Given the description of an element on the screen output the (x, y) to click on. 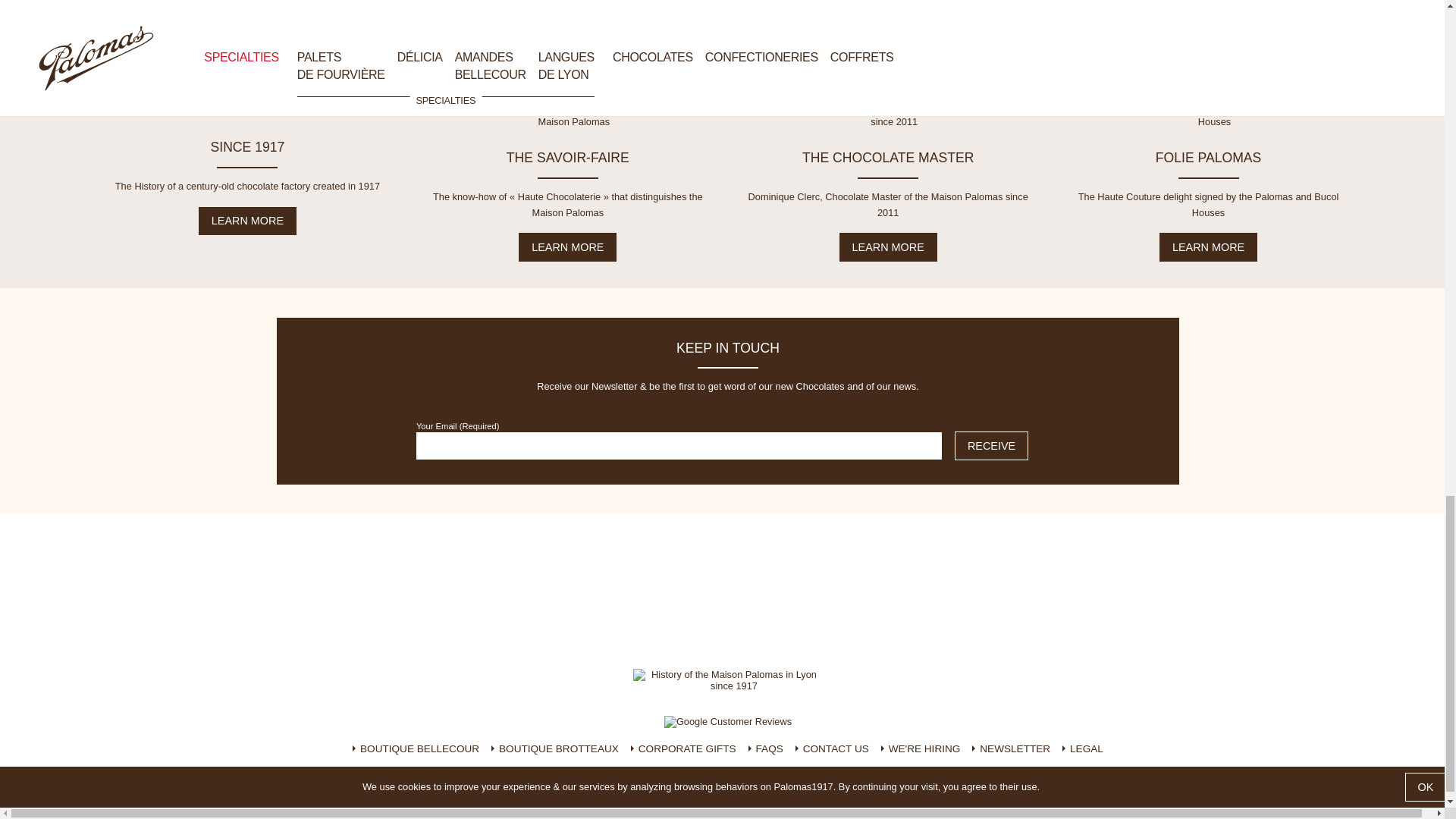
BOUTIQUE BROTTEAUX (555, 749)
FAQS (765, 749)
LEARN MORE (888, 246)
LEARN MORE (247, 221)
BOUTIQUE BELLECOUR (415, 749)
LEARN MORE (566, 246)
CONTACT US (831, 749)
CORPORATE GIFTS (683, 749)
RECEIVE (991, 445)
LEARN MORE (1207, 246)
